Given the description of an element on the screen output the (x, y) to click on. 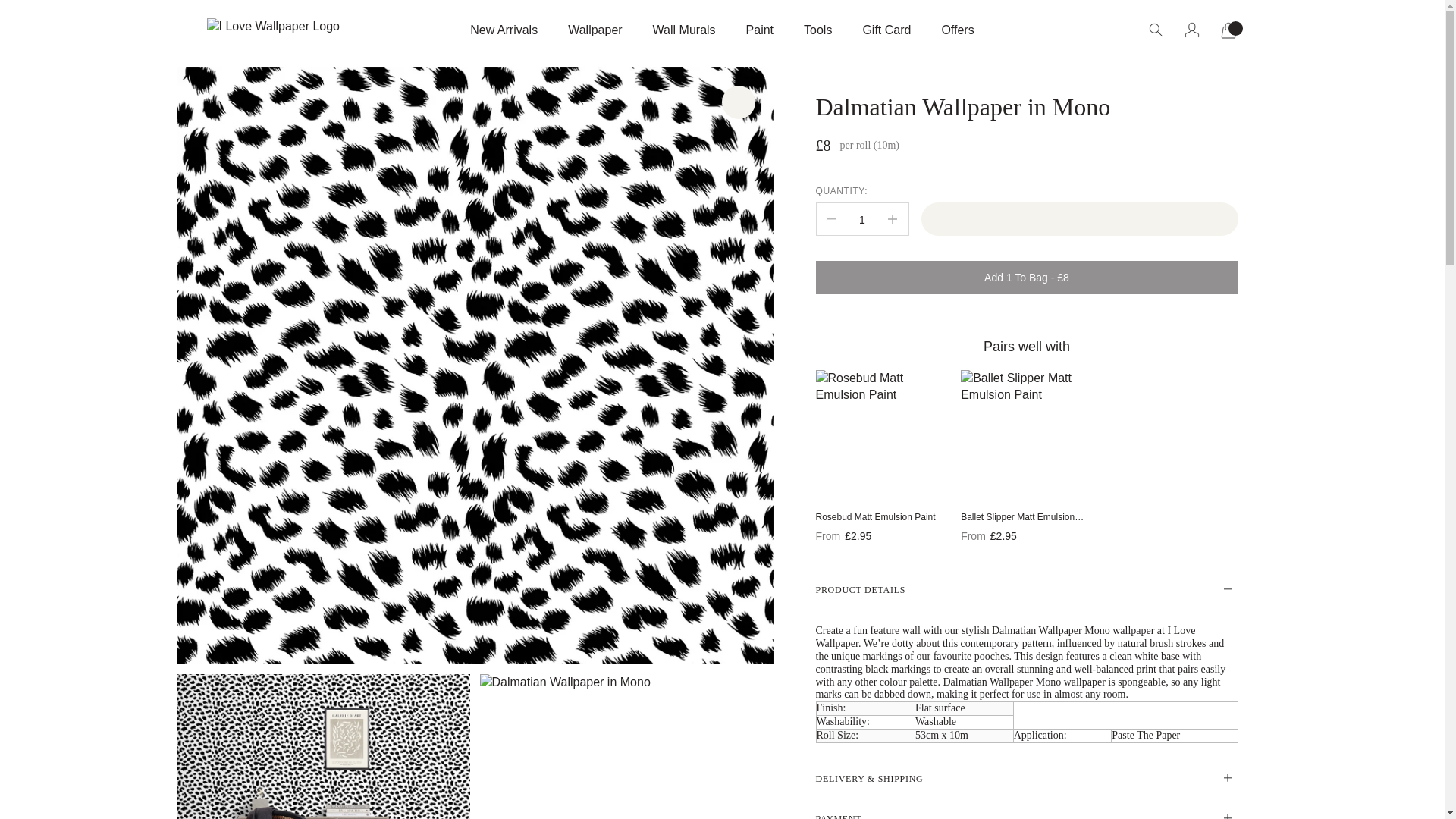
Skip to content (215, 9)
New Arrivals (503, 29)
Wallpaper (594, 29)
